Given the description of an element on the screen output the (x, y) to click on. 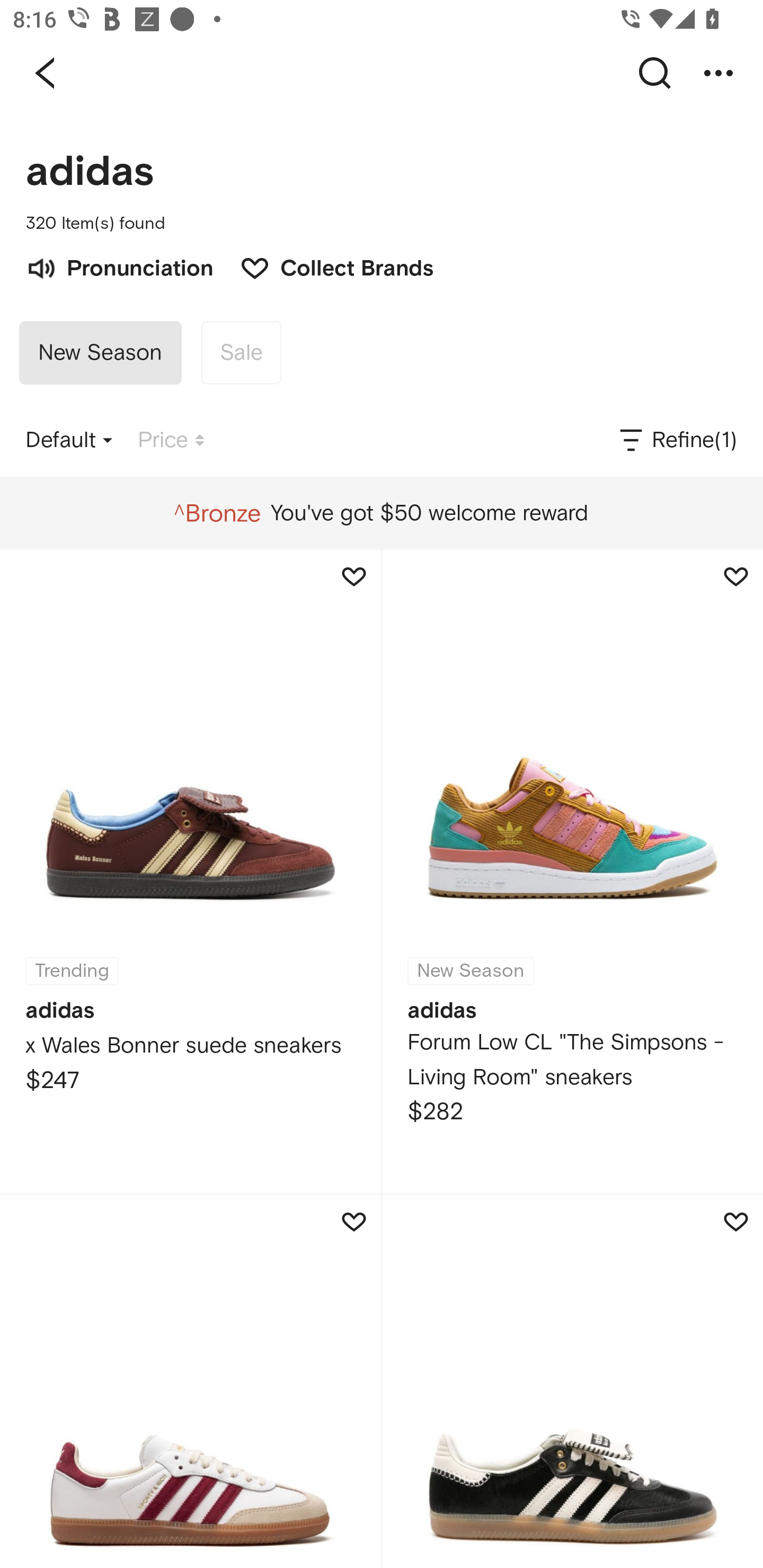
Pronunciation (119, 266)
Collect Brands (327, 266)
New Season (100, 352)
Sale (240, 352)
Default (68, 440)
Price (171, 440)
Refine(1) (677, 440)
You've got $50 welcome reward (381, 513)
Trending adidas x Wales Bonner suede sneakers $247 (190, 871)
